Given the description of an element on the screen output the (x, y) to click on. 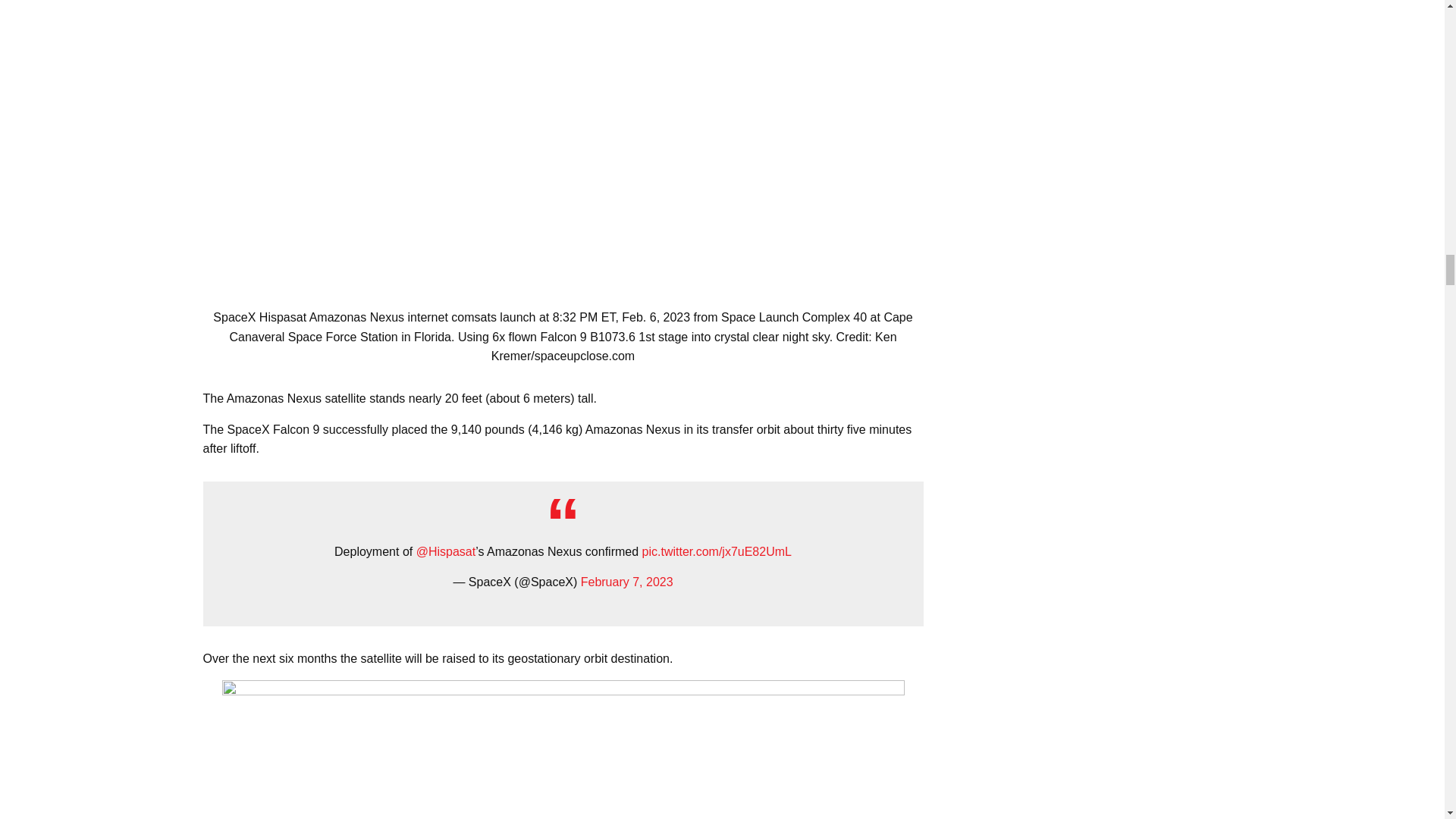
February 7, 2023 (626, 581)
